Given the description of an element on the screen output the (x, y) to click on. 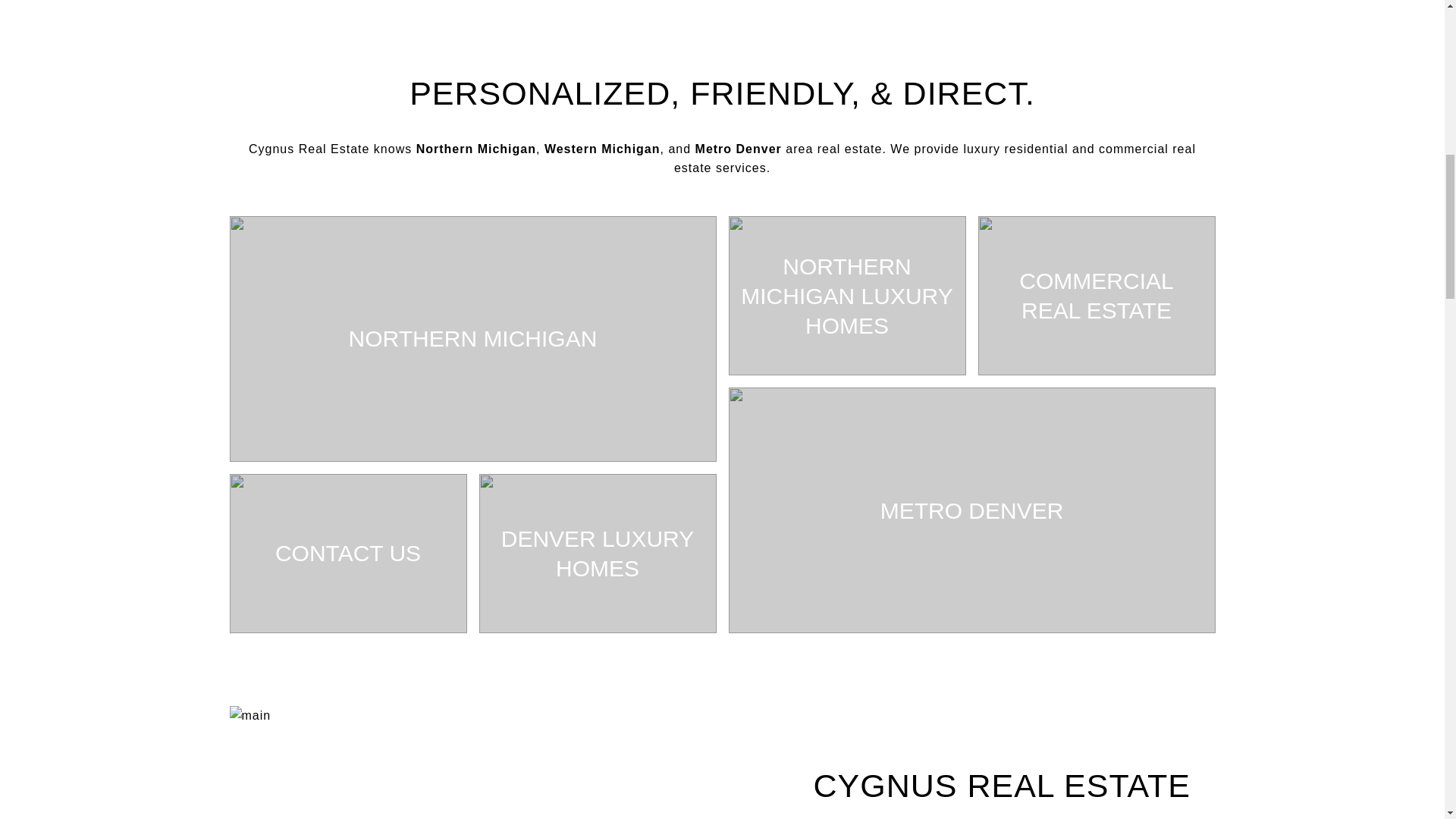
METRO DENVER (971, 510)
COMMERCIAL REAL ESTATE (1096, 295)
CONTACT US (346, 553)
DENVER LUXURY HOMES (597, 553)
NORTHERN MICHIGAN (472, 338)
NORTHERN MICHIGAN LUXURY HOMES (846, 295)
